Given the description of an element on the screen output the (x, y) to click on. 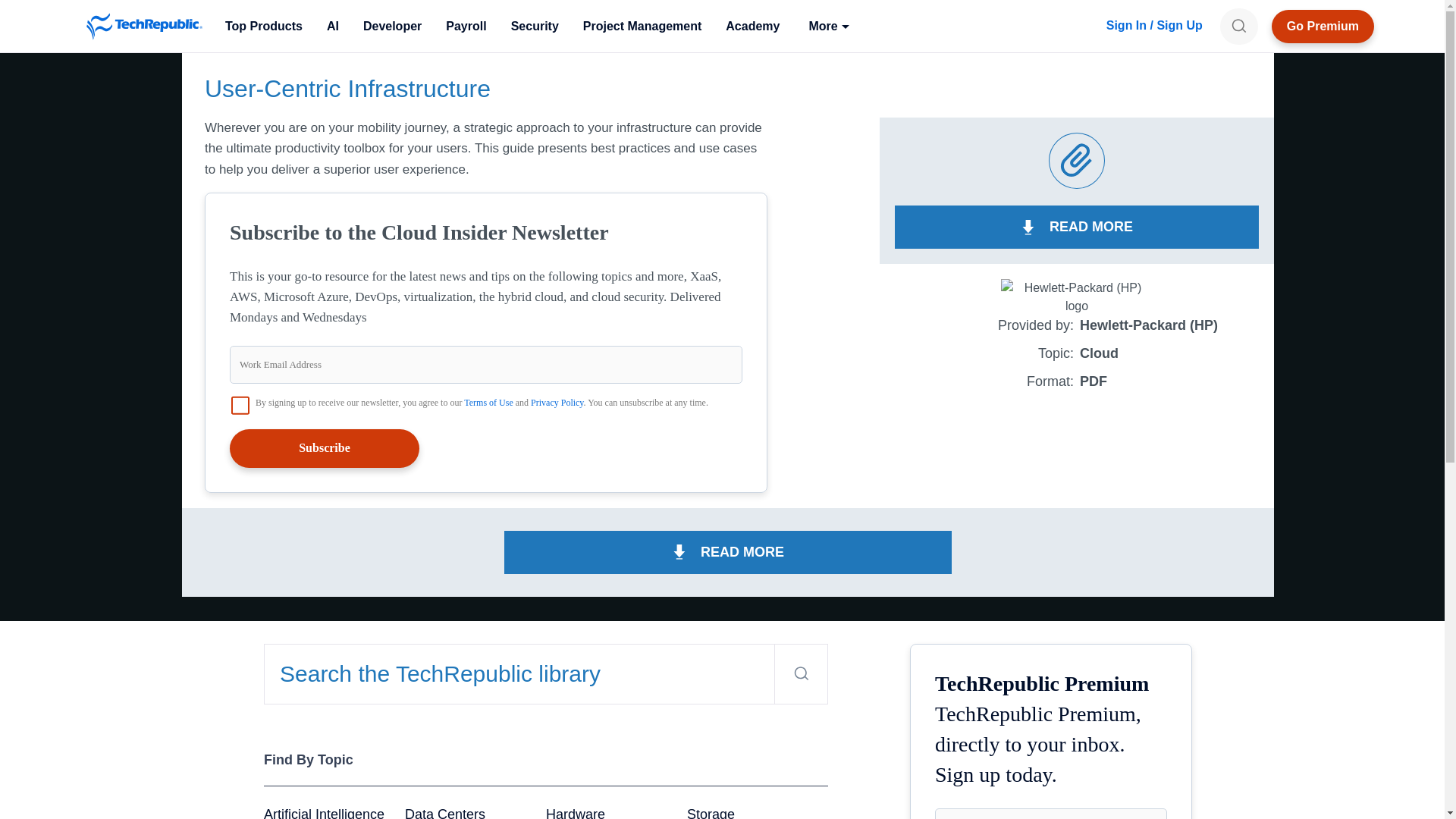
Subscribe (324, 447)
TechRepublic (143, 25)
READ MORE (1077, 226)
Top Products (263, 26)
Developer (392, 26)
TechRepublic Premium (1322, 25)
Security (534, 26)
Go Premium (1322, 25)
Academy (752, 26)
on (239, 405)
